Given the description of an element on the screen output the (x, y) to click on. 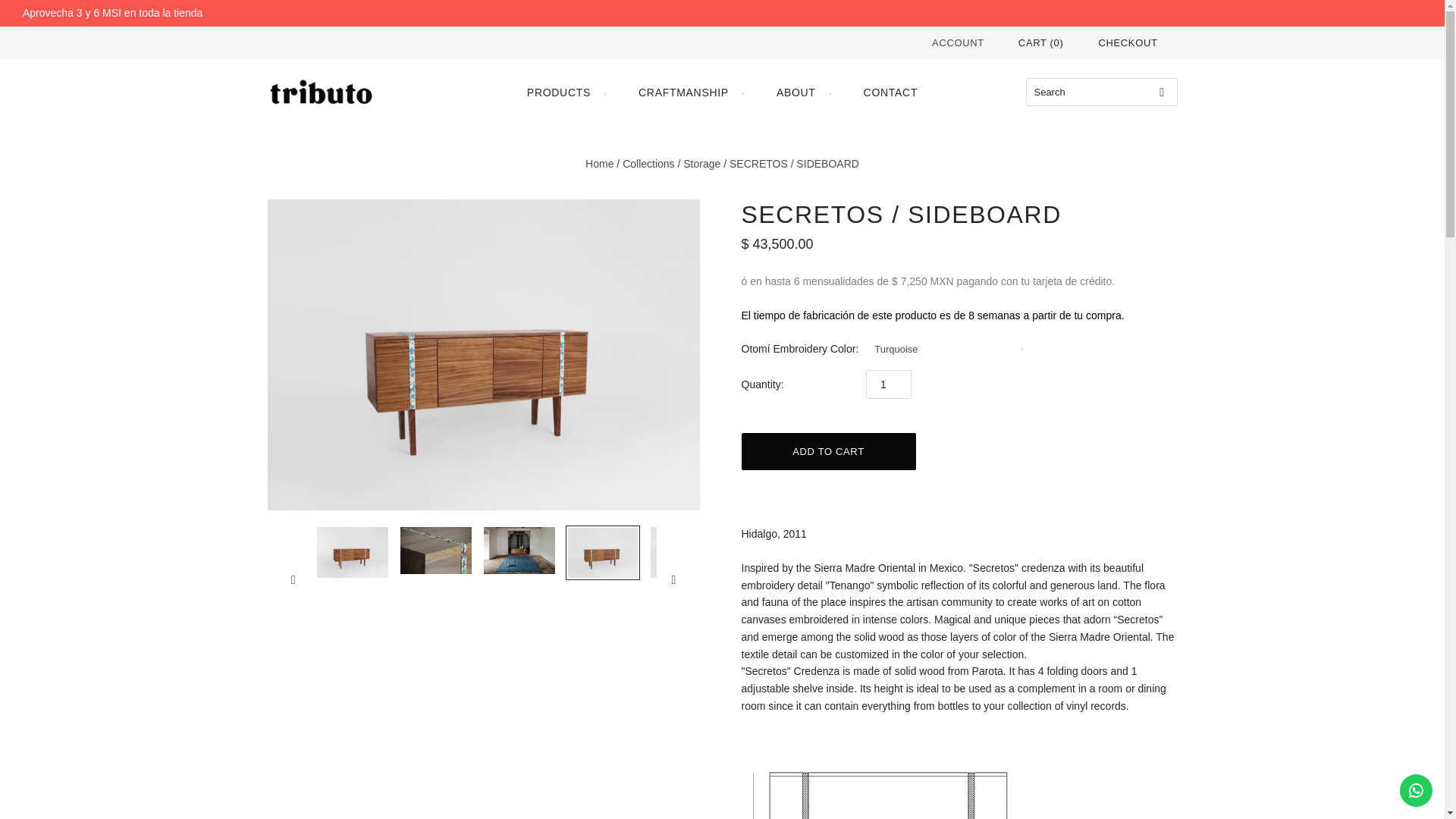
1 (888, 384)
ACCOUNT (957, 42)
CHECKOUT (1127, 42)
CONTACT (890, 92)
Add to cart (828, 451)
